Given the description of an element on the screen output the (x, y) to click on. 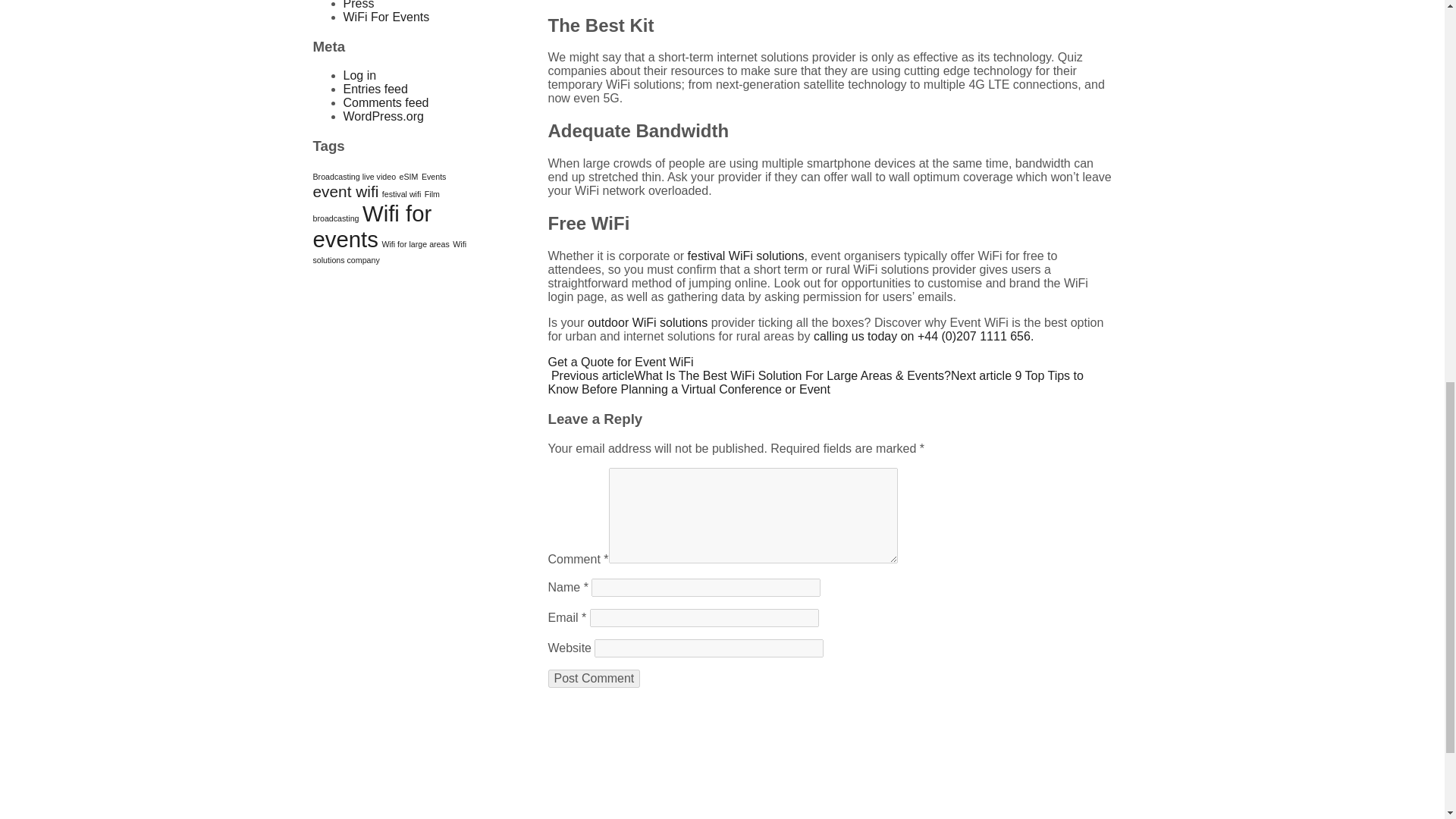
Get a Quote for Event WiFi (620, 361)
festival WiFi solutions (746, 255)
Post Comment (593, 678)
outdoor WiFi solutions (647, 322)
Post Comment (593, 678)
